Given the description of an element on the screen output the (x, y) to click on. 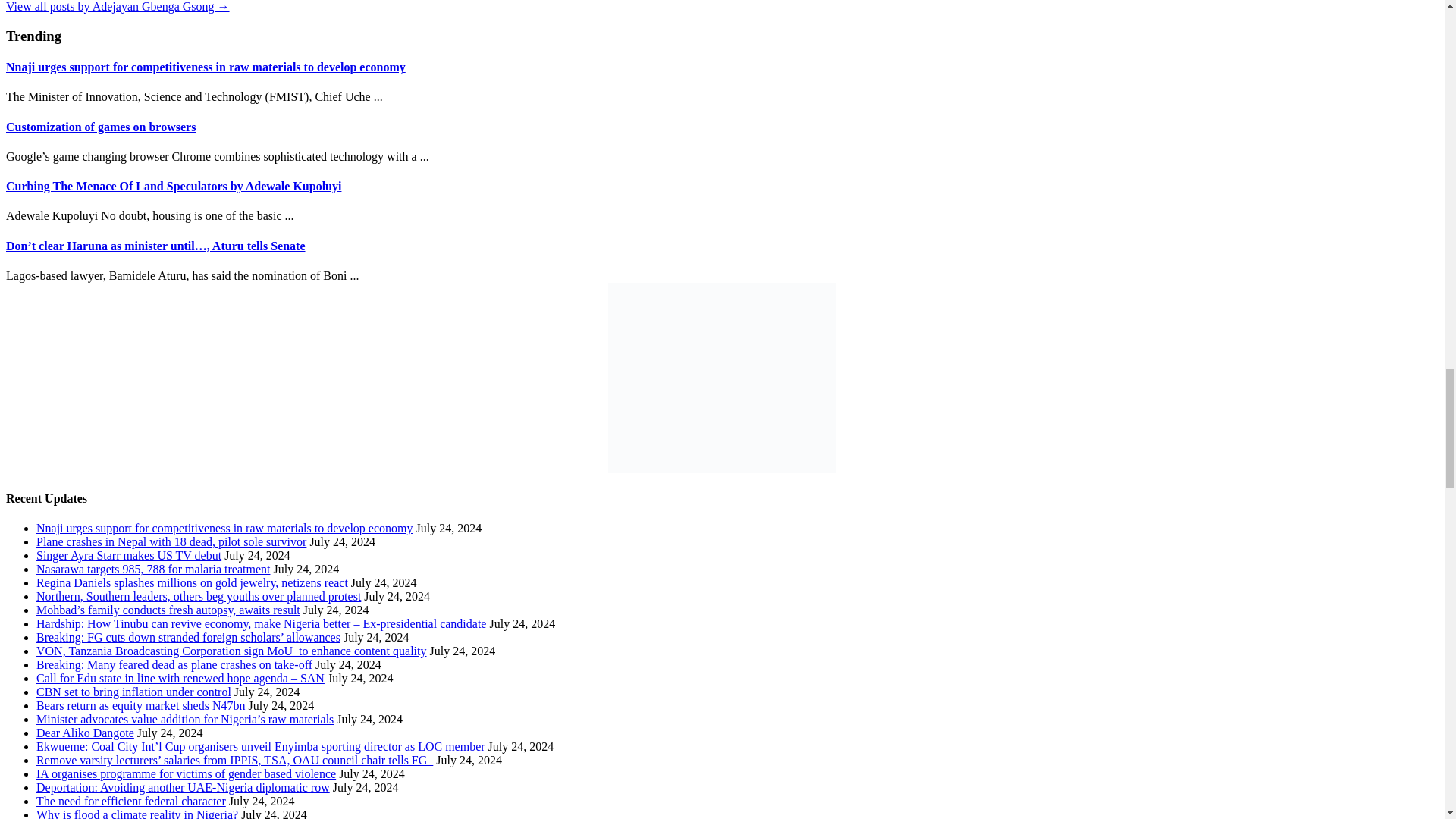
Adejayan Gbenga Gsong (117, 6)
